Given the description of an element on the screen output the (x, y) to click on. 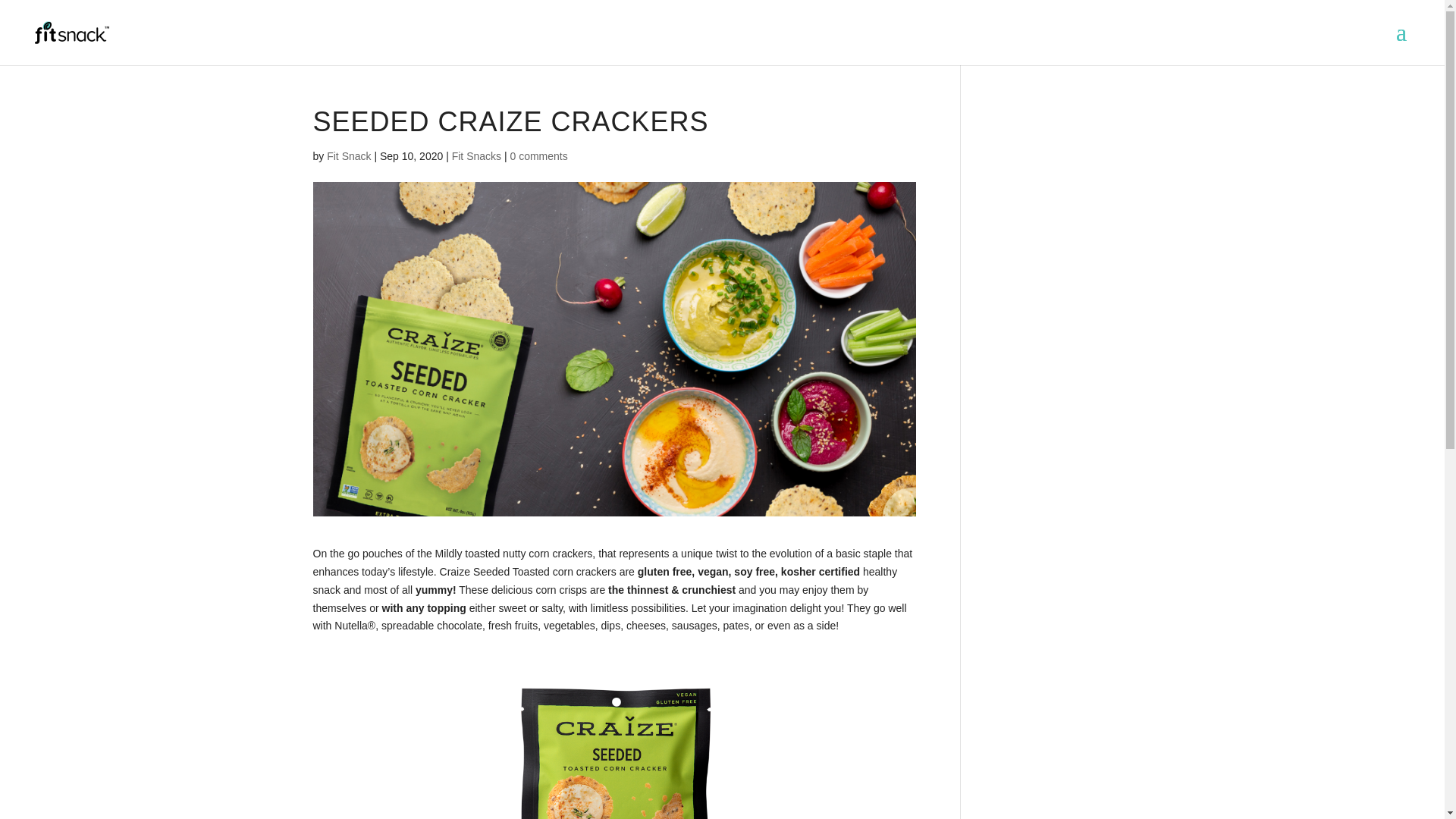
Fit Snacks (475, 155)
0 comments (538, 155)
Fit Snack (348, 155)
Posts by Fit Snack (348, 155)
